Given the description of an element on the screen output the (x, y) to click on. 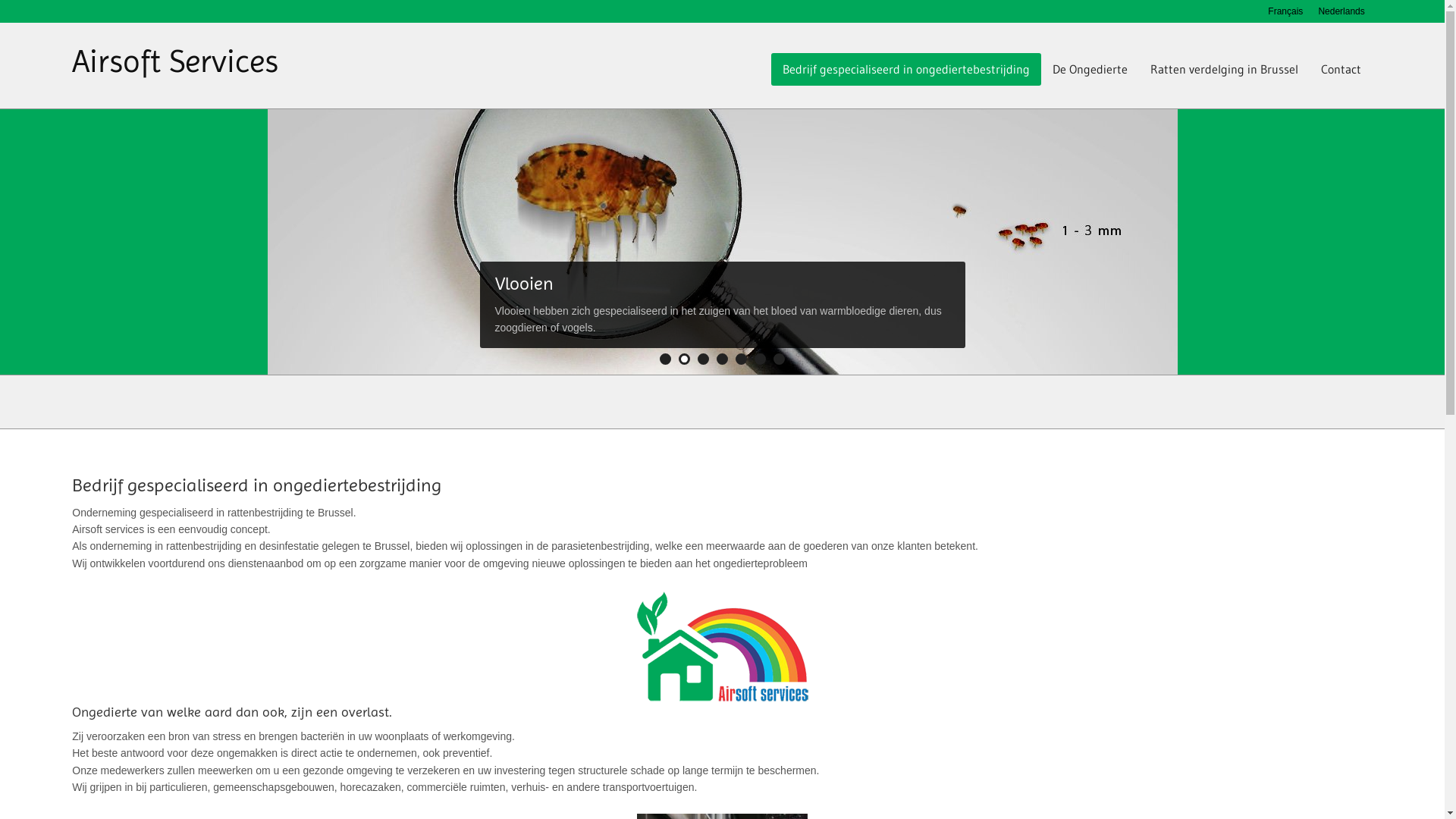
1 Element type: text (665, 358)
4 Element type: text (722, 358)
5 Element type: text (740, 358)
Ratten verdelging in Brussel Element type: text (1224, 68)
Bedrijf gespecialiseerd in ongediertebestrijding Element type: text (906, 68)
6 Element type: text (759, 358)
7 Element type: text (778, 358)
3 Element type: text (703, 358)
Nederlands Element type: text (1340, 11)
De Ongedierte Element type: text (1090, 68)
Contact Element type: text (1340, 68)
Airsoft Services Element type: text (175, 60)
2 Element type: text (684, 358)
